Given the description of an element on the screen output the (x, y) to click on. 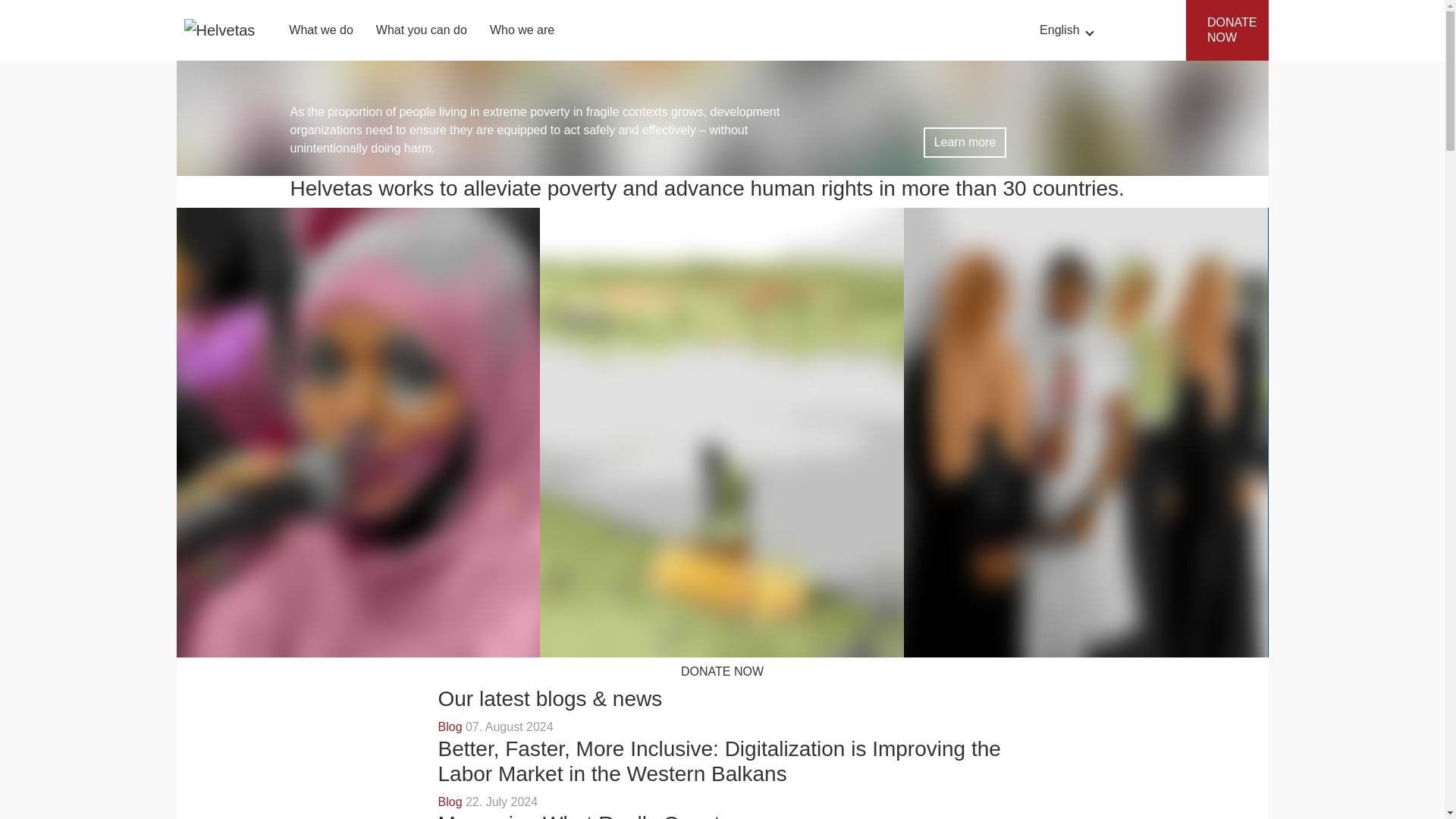
Who we are (521, 30)
What we do (320, 30)
What you can do (421, 30)
